Given the description of an element on the screen output the (x, y) to click on. 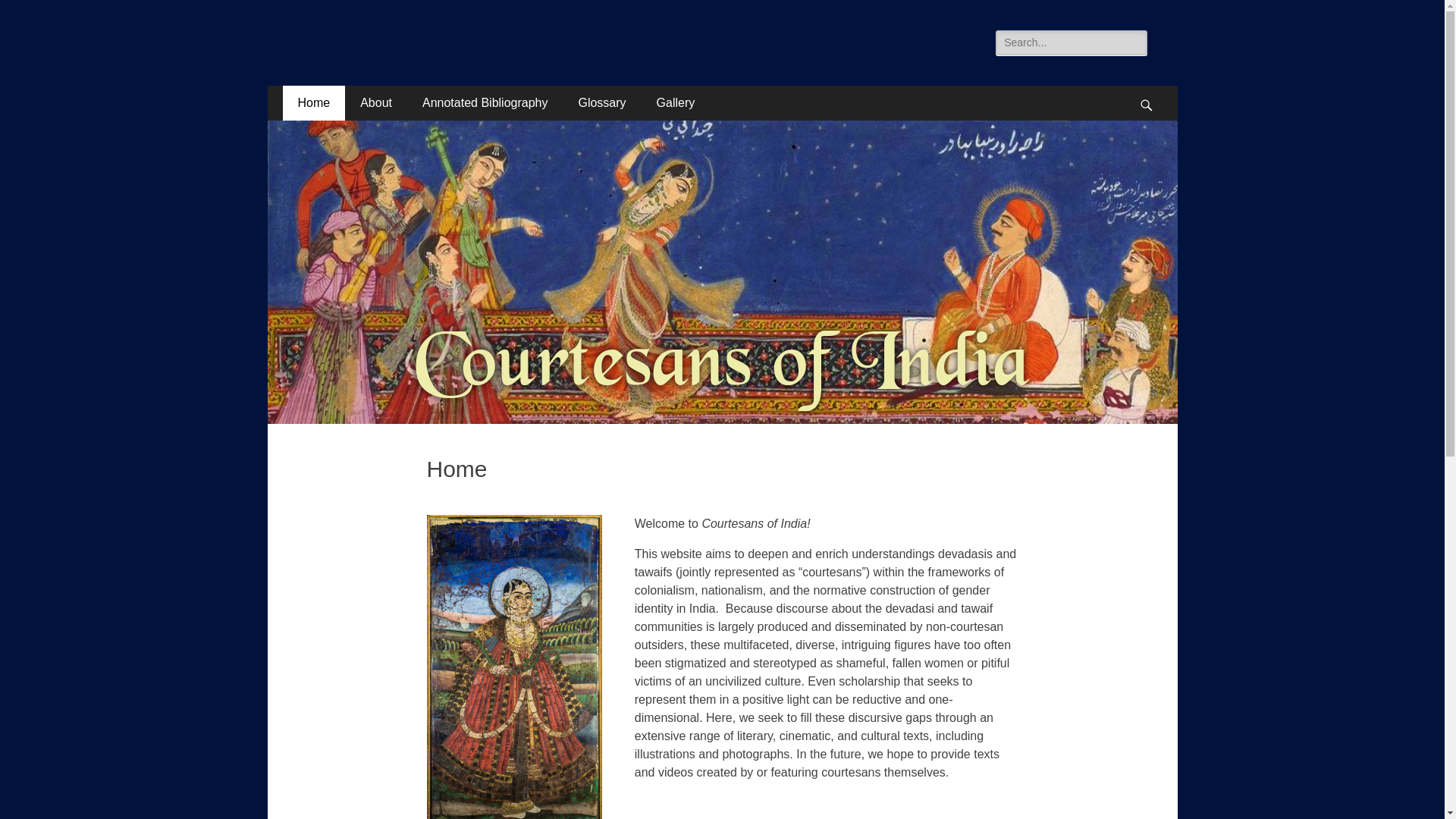
Courtesans of India (431, 48)
Gallery (676, 102)
Home (313, 102)
Annotated Bibliography (484, 102)
Search (33, 13)
About (376, 102)
Search for: (1071, 42)
Glossary (601, 102)
